Given the description of an element on the screen output the (x, y) to click on. 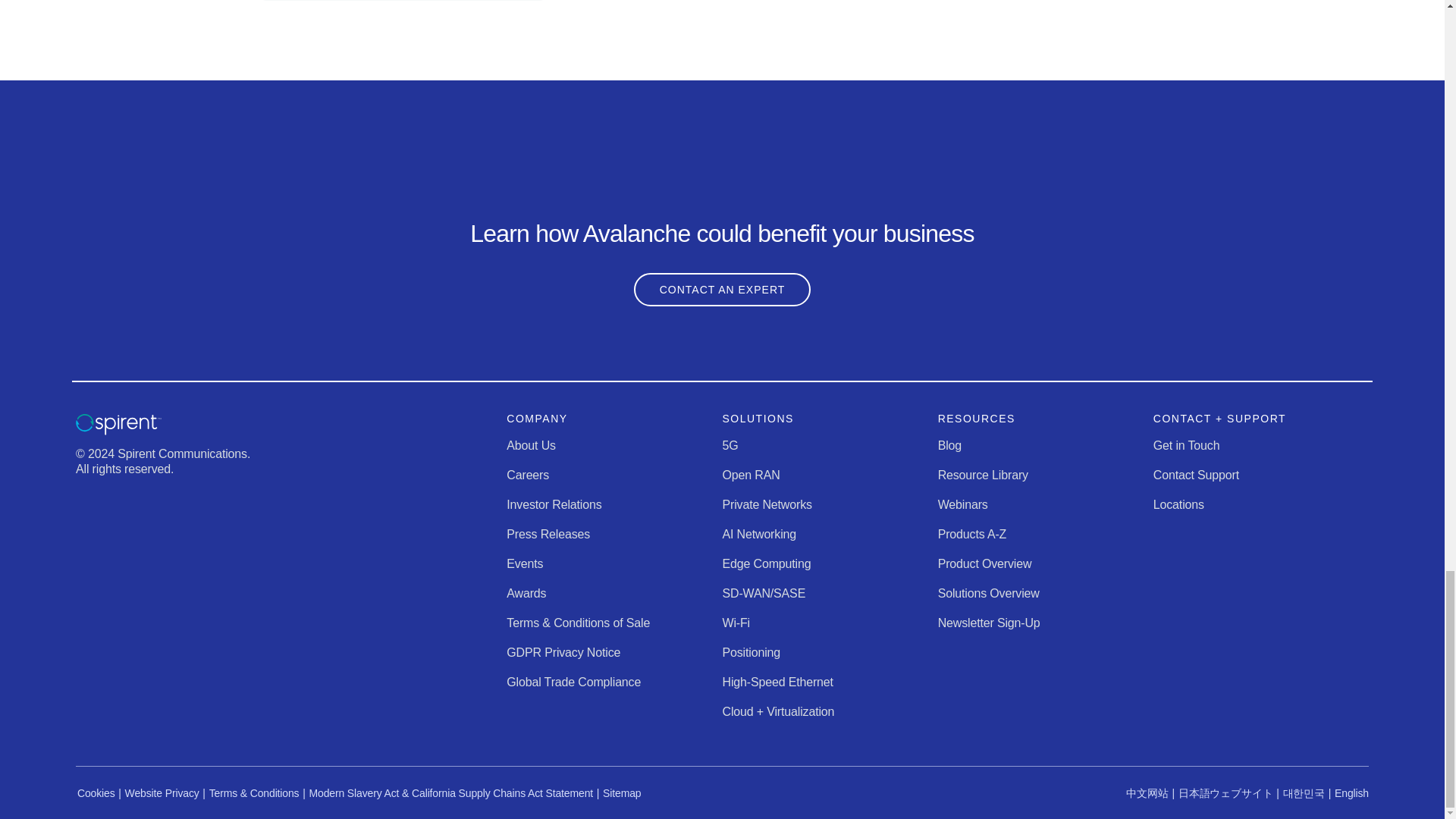
About Us (531, 445)
CONTACT AN EXPERT (721, 289)
